Given the description of an element on the screen output the (x, y) to click on. 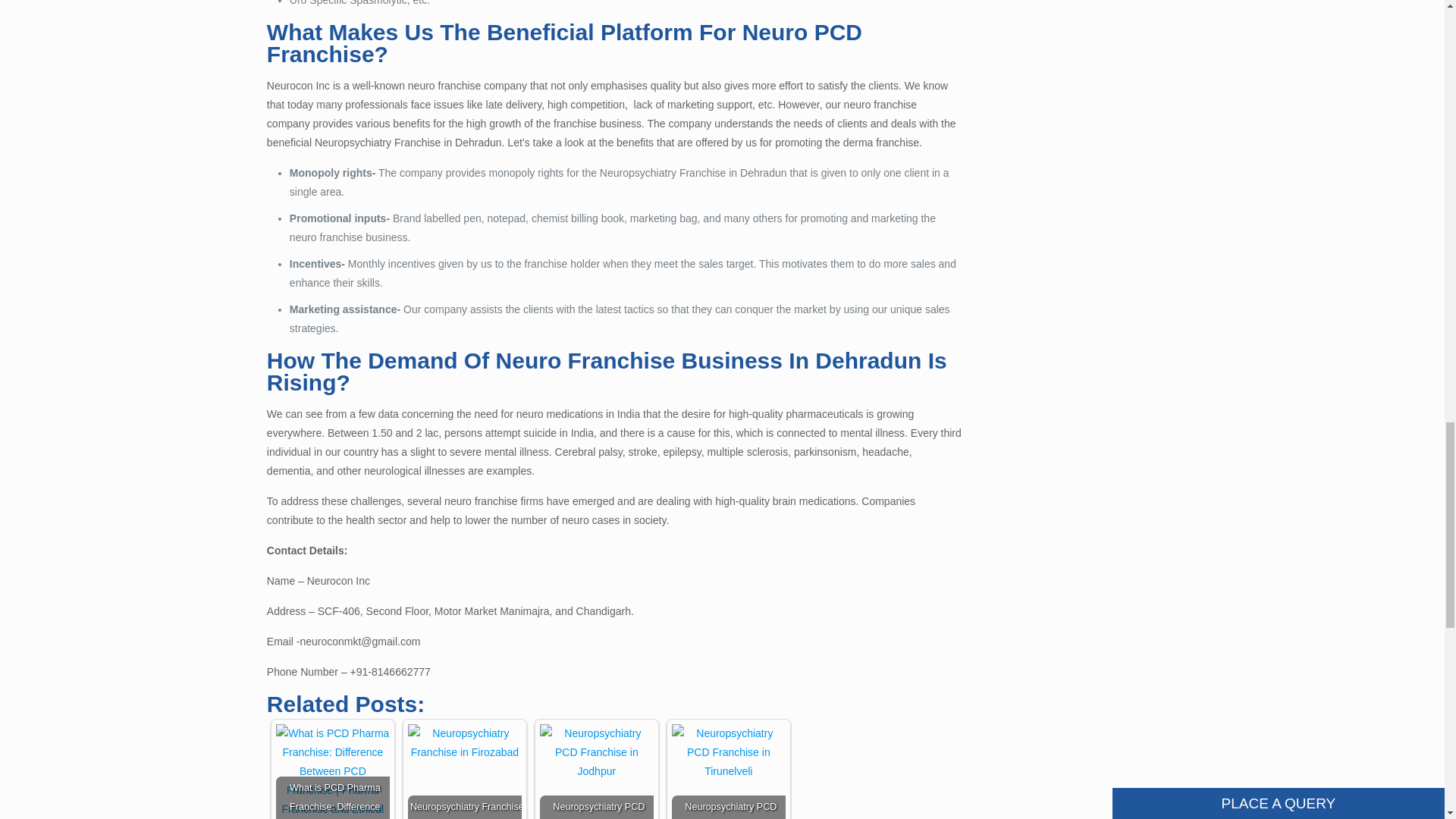
Neuropsychiatry PCD Franchise in Tirunelveli (728, 752)
Neuropsychiatry PCD Franchise in Jodhpur (596, 752)
Neuropsychiatry Franchise in Firozabad (464, 742)
